Given the description of an element on the screen output the (x, y) to click on. 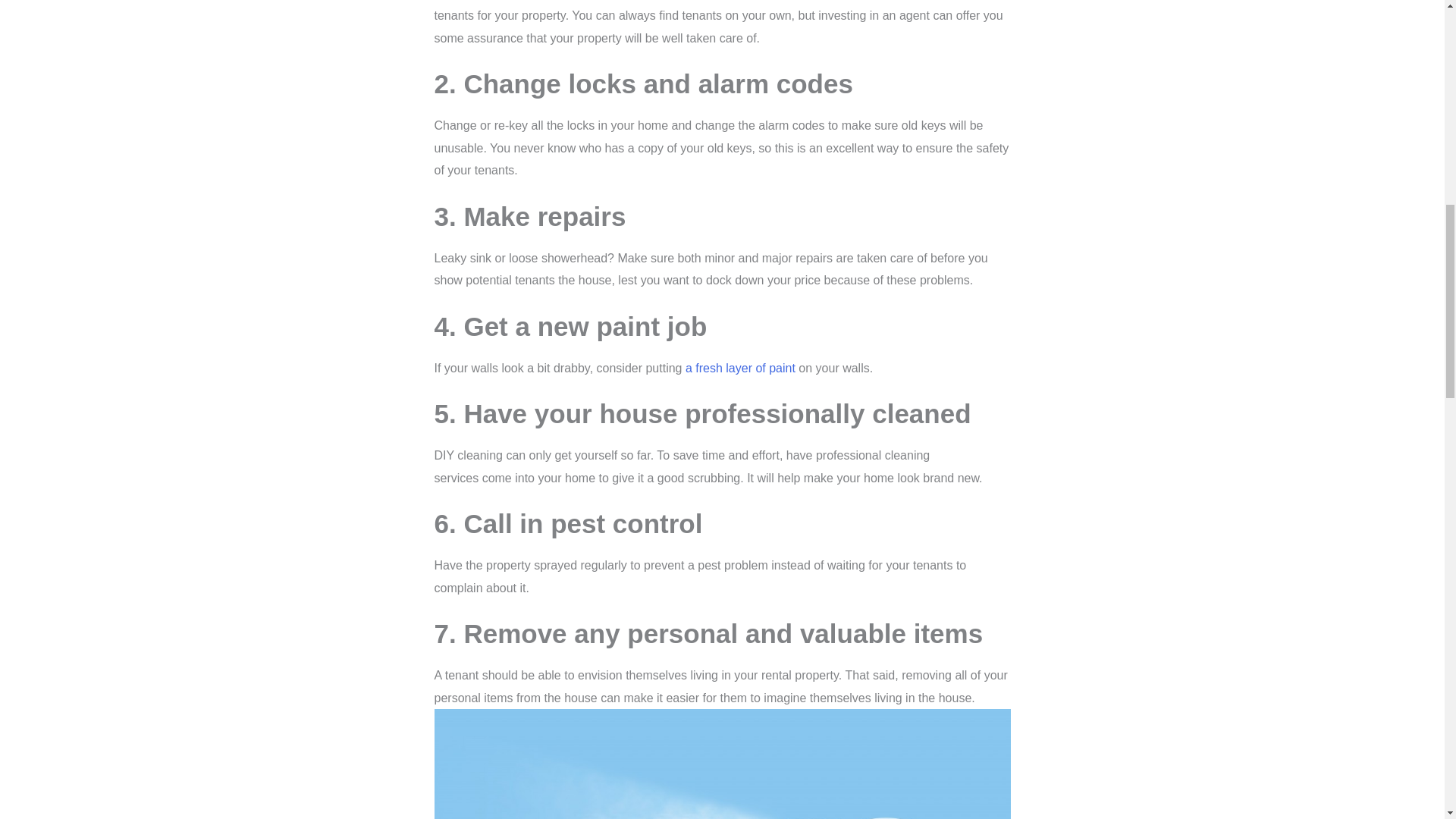
Popular Mechanics (739, 367)
a fresh layer of paint (739, 367)
